Given the description of an element on the screen output the (x, y) to click on. 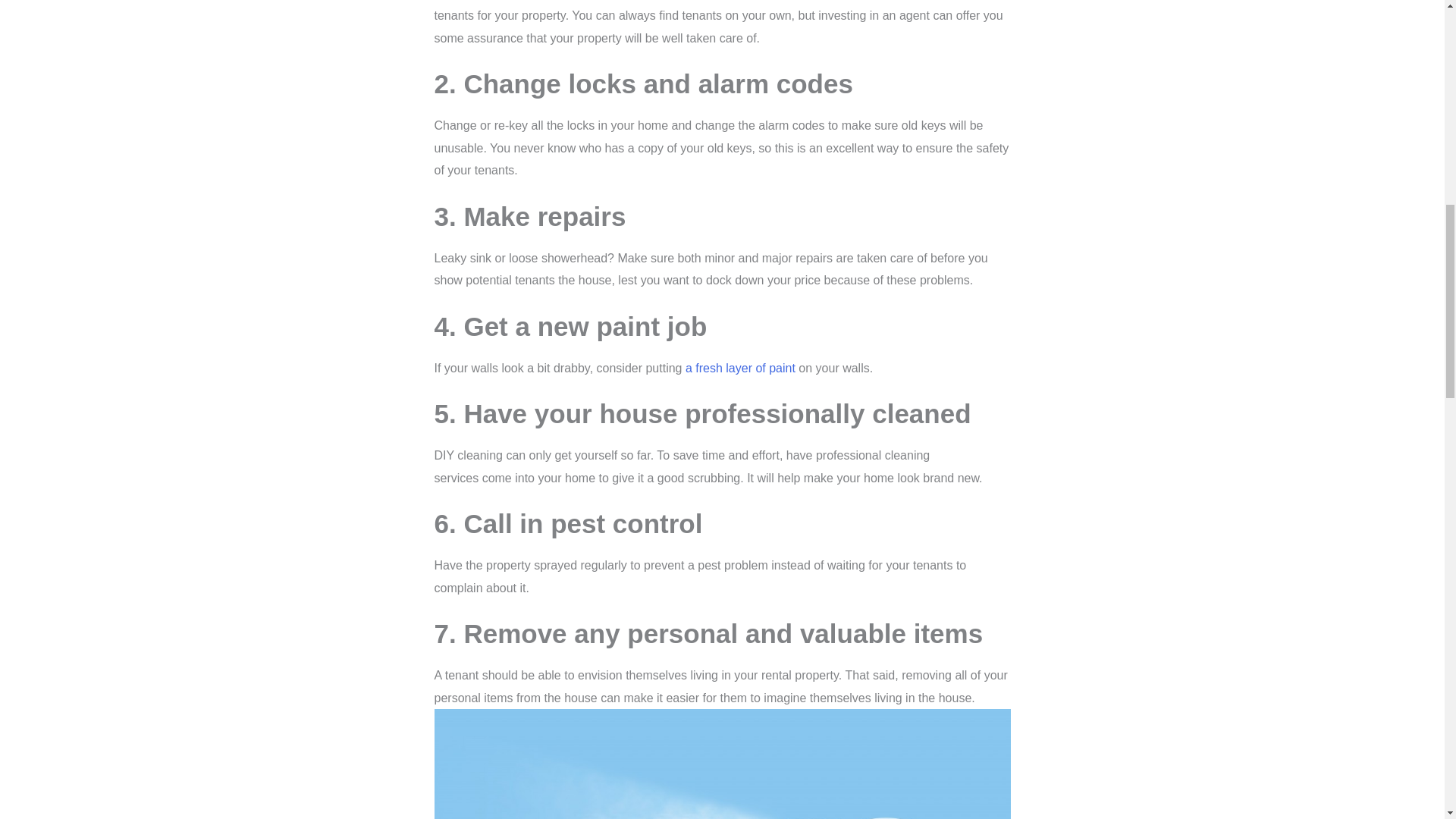
Popular Mechanics (739, 367)
a fresh layer of paint (739, 367)
